Given the description of an element on the screen output the (x, y) to click on. 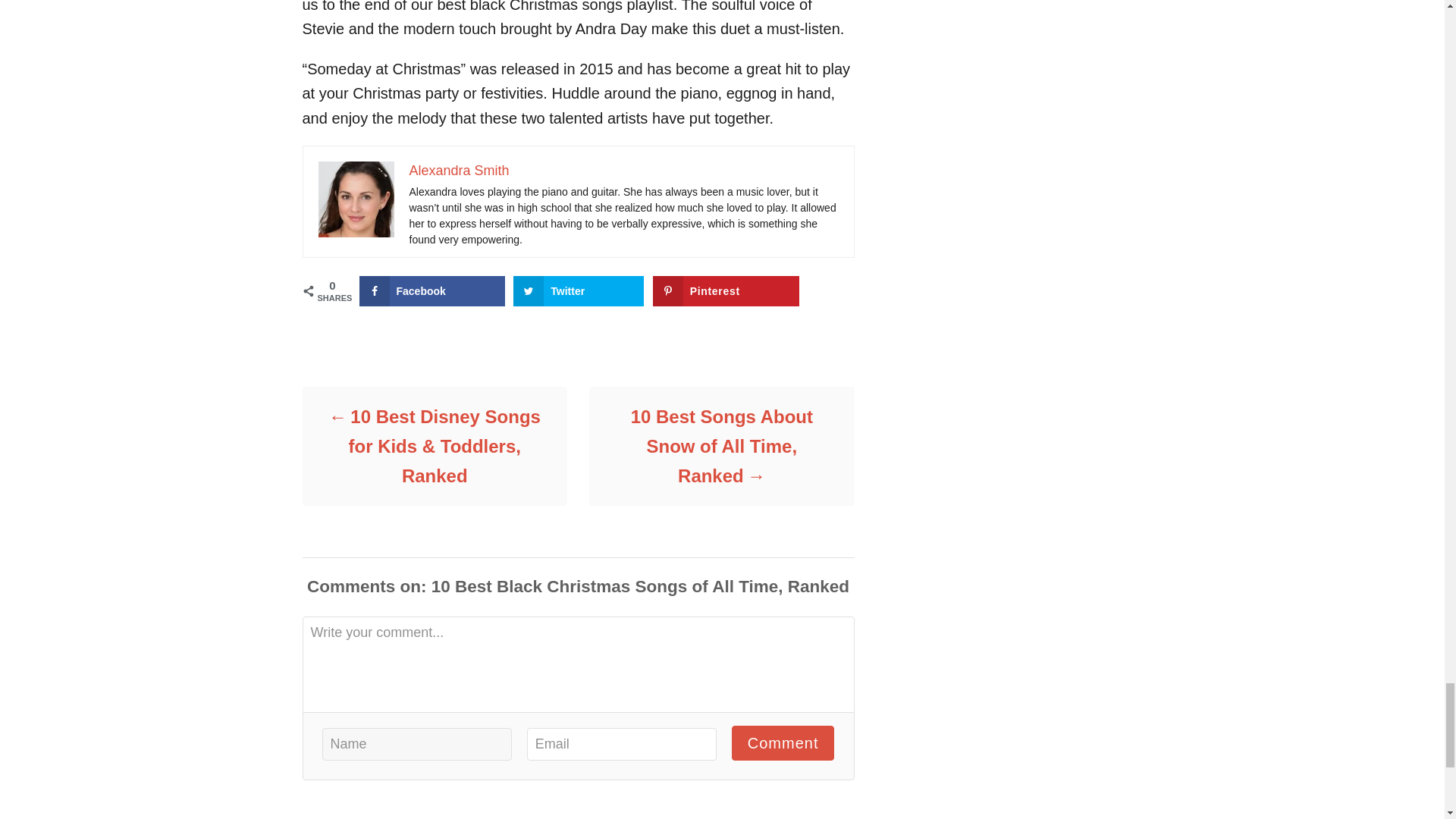
Save to Pinterest (725, 291)
Share on Twitter (578, 291)
Share on Facebook (432, 291)
